Given the description of an element on the screen output the (x, y) to click on. 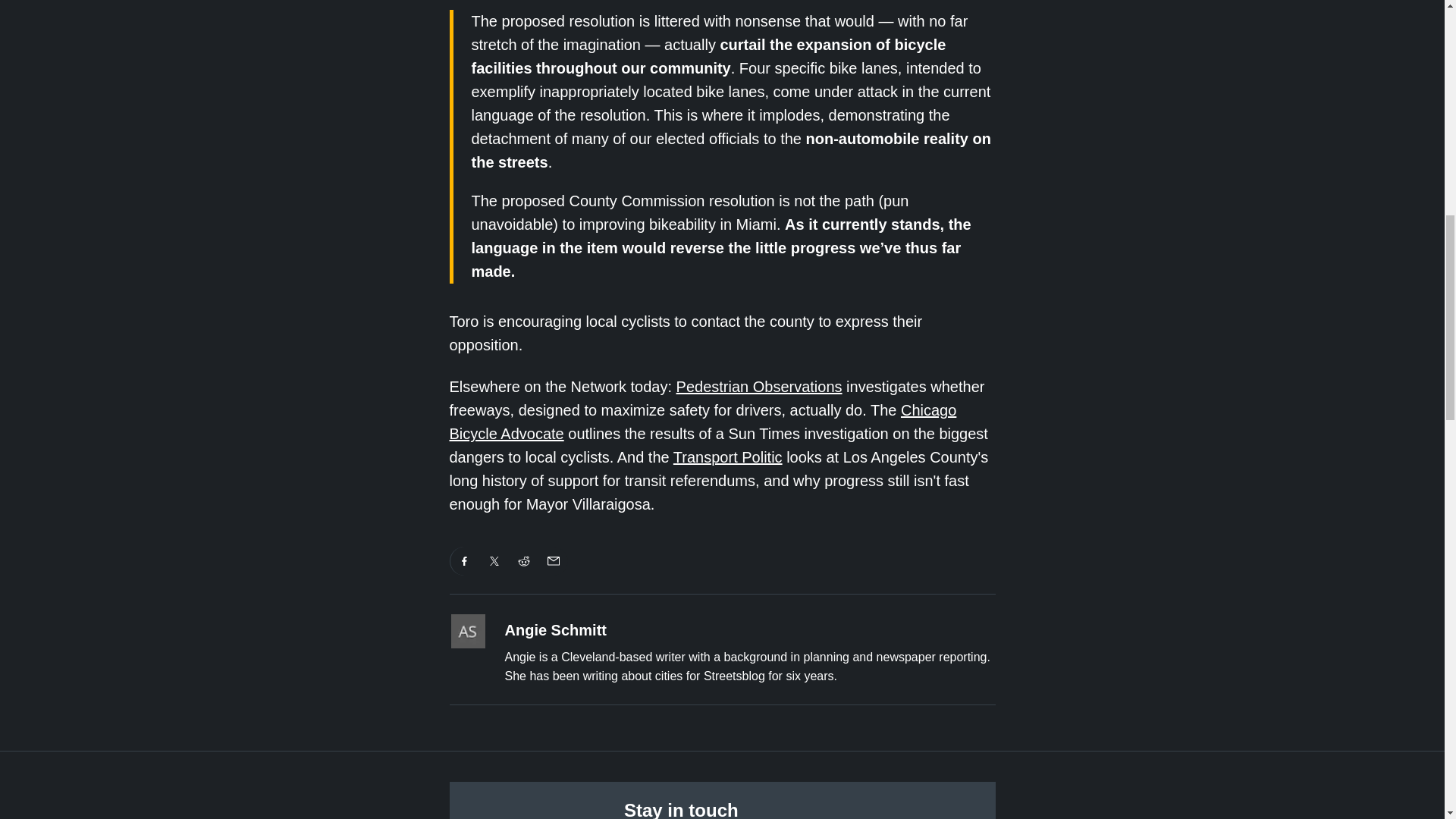
Pedestrian Observations (760, 386)
Transport Politic (727, 457)
Share on Facebook (464, 561)
Share on Reddit (523, 561)
Chicago Bicycle Advocate (702, 422)
